Given the description of an element on the screen output the (x, y) to click on. 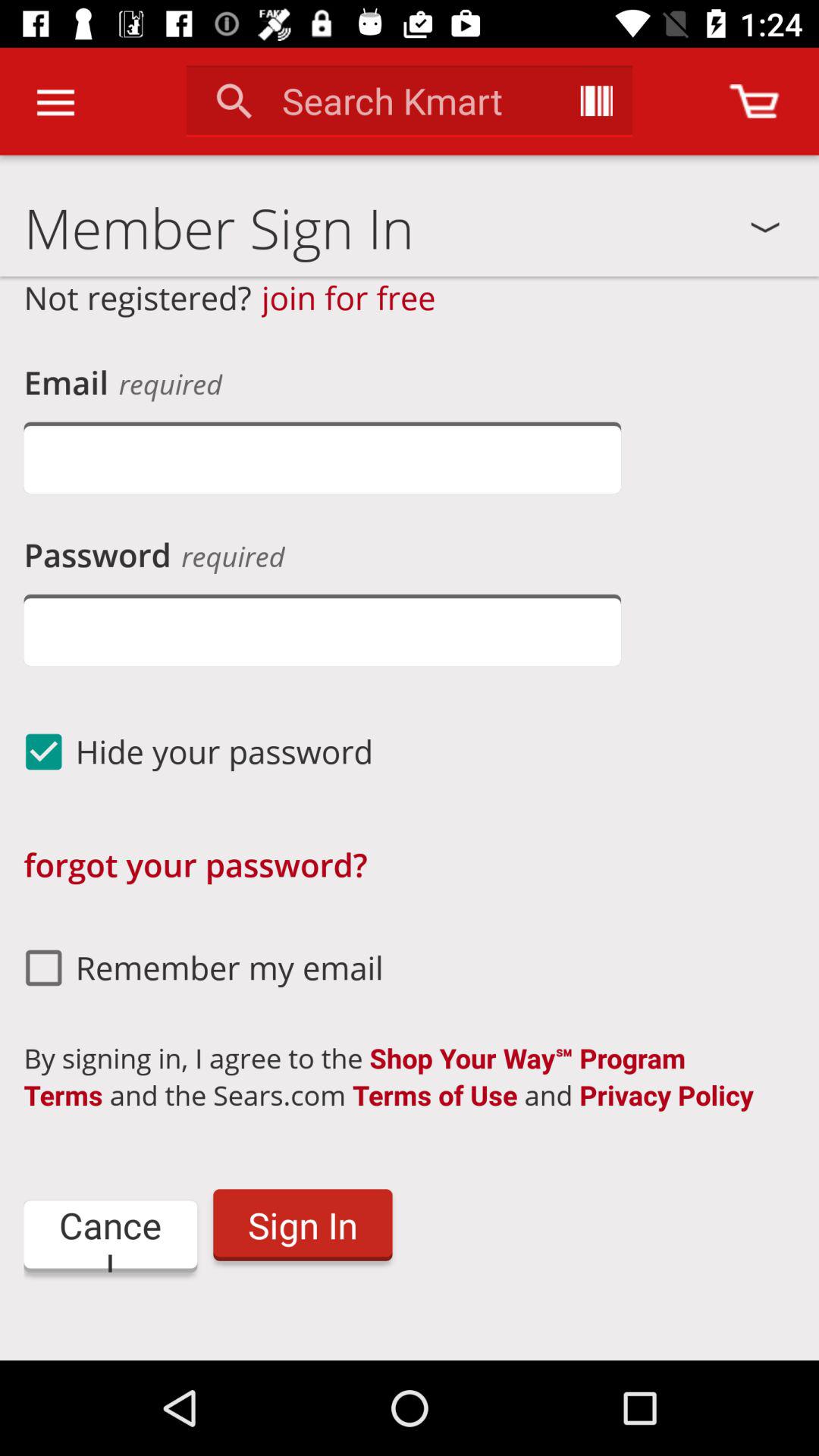
choose icon above the sign in (401, 1076)
